Given the description of an element on the screen output the (x, y) to click on. 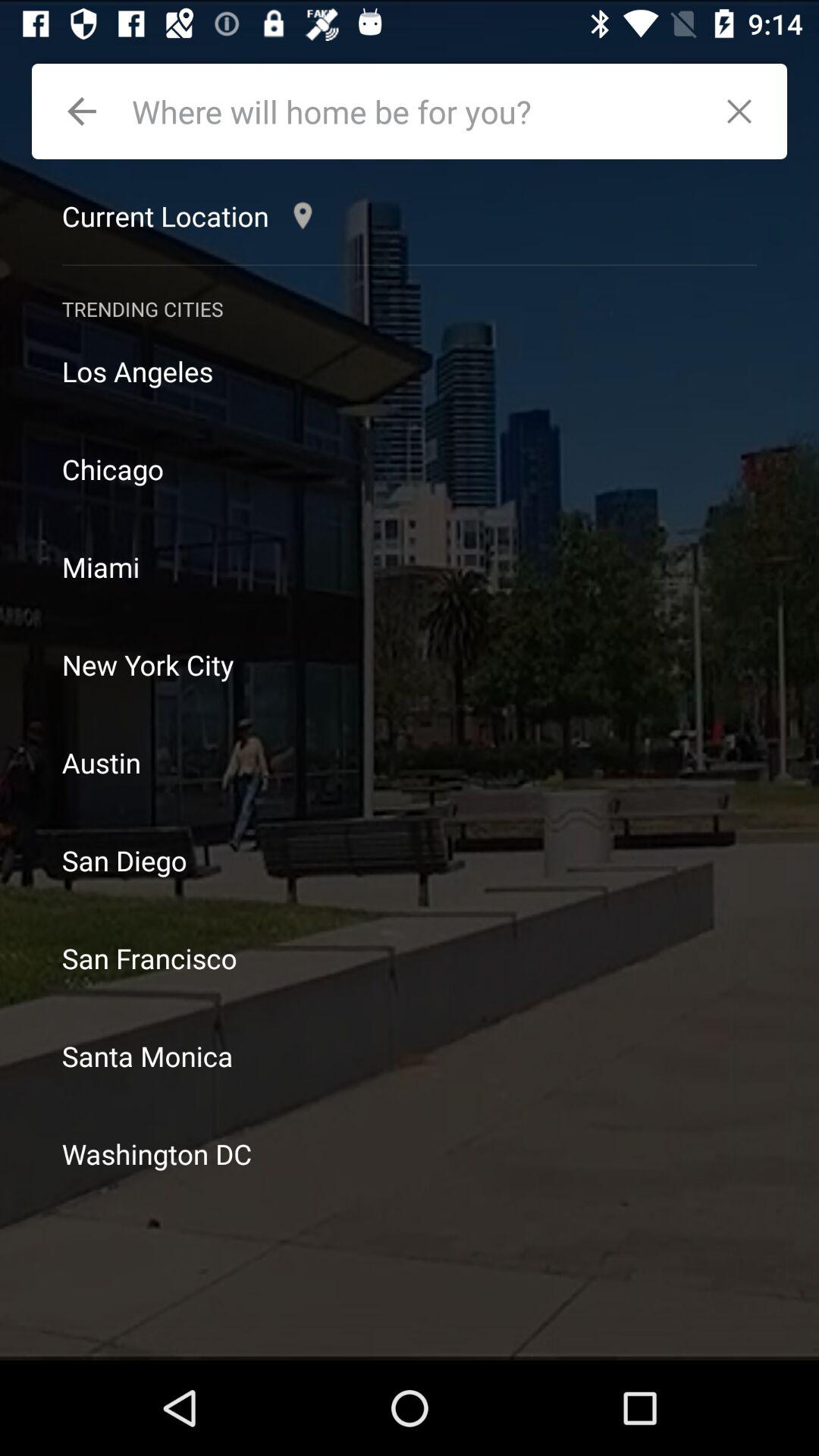
search section (414, 111)
